Given the description of an element on the screen output the (x, y) to click on. 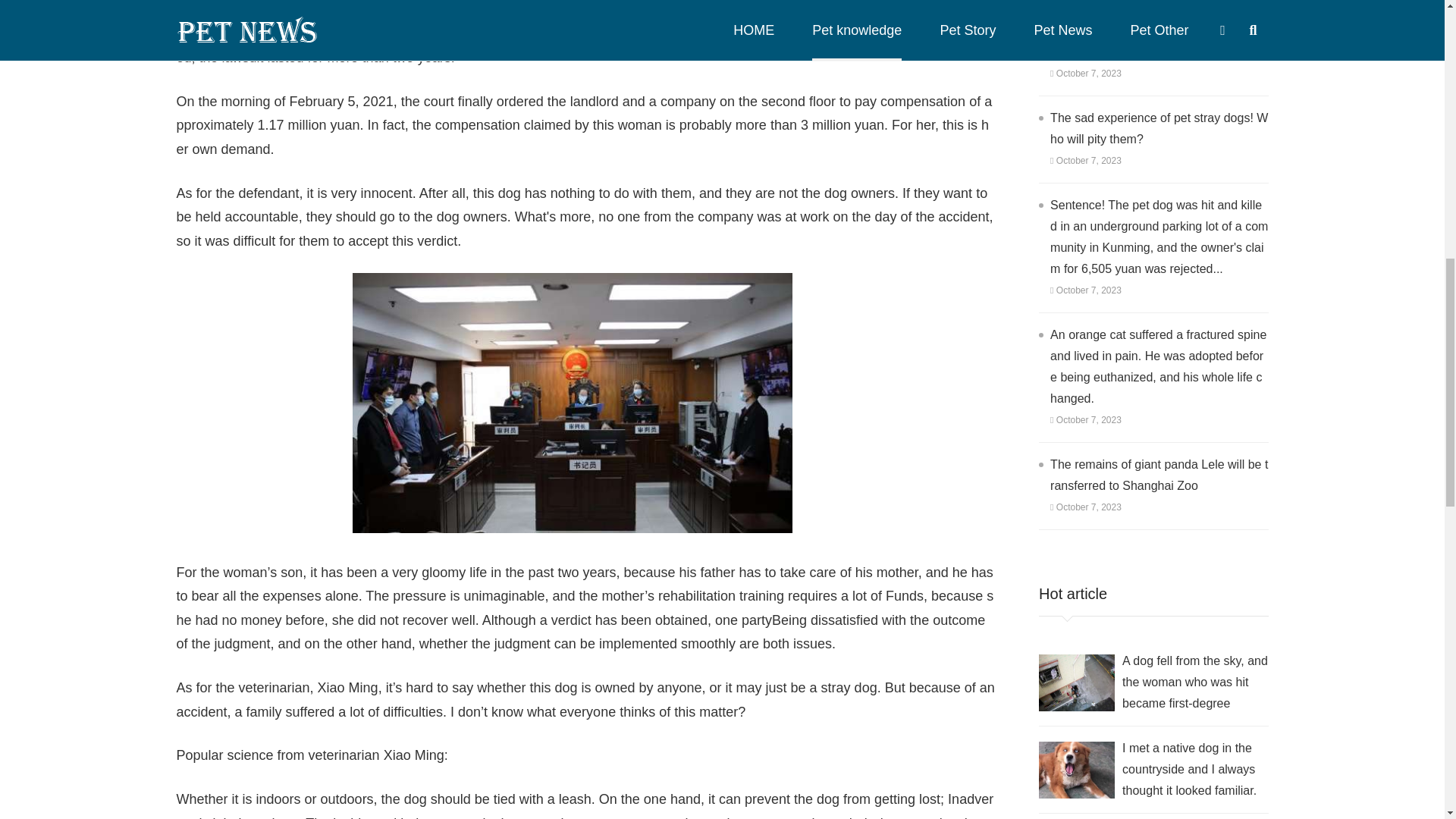
The sad experience of pet stray dogs! Who will pity them? (1158, 128)
The sad experience of pet stray dogs! Who will pity them? (1158, 128)
